Given the description of an element on the screen output the (x, y) to click on. 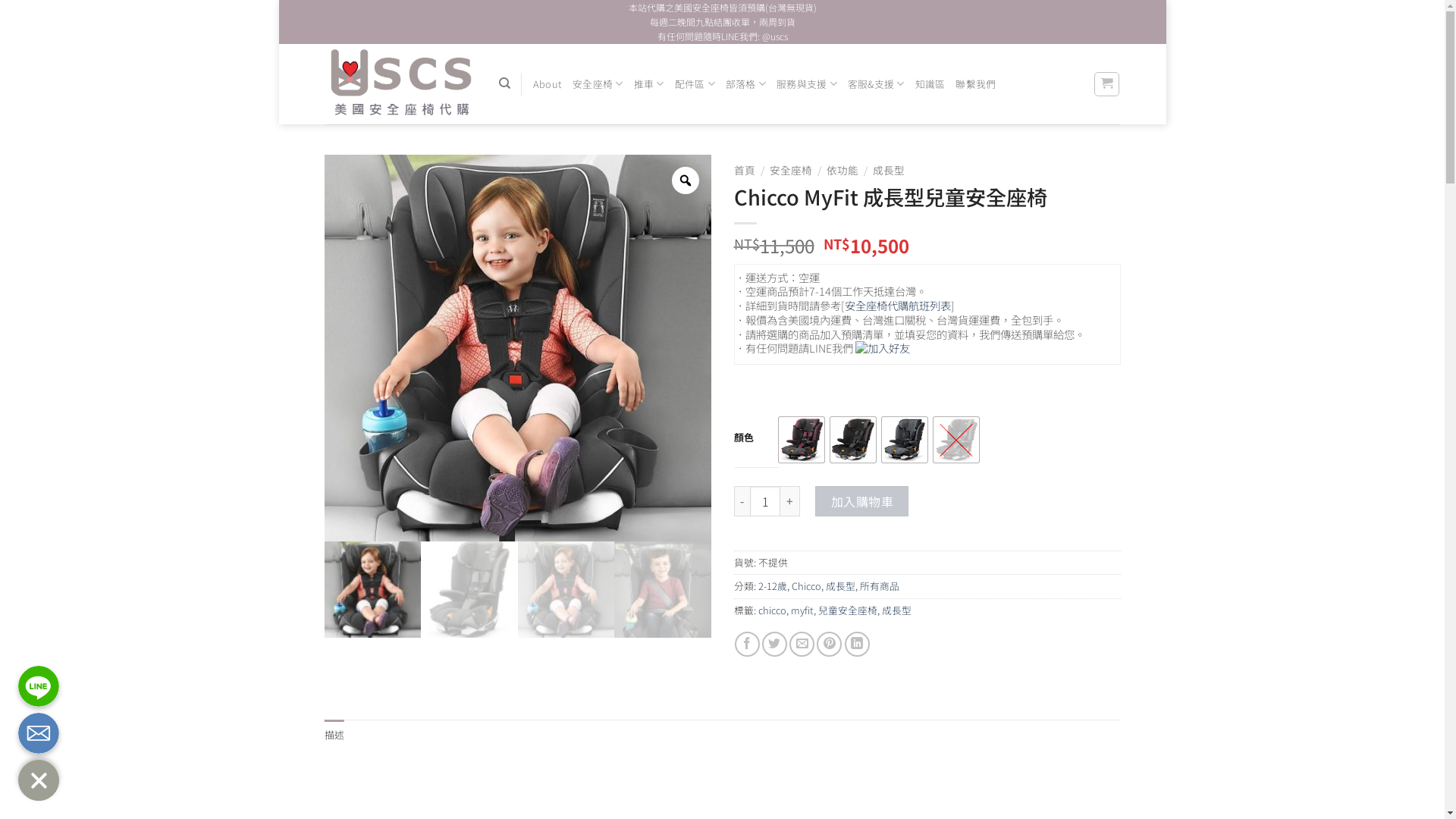
myfit Element type: text (801, 609)
A1cOrlLar3L._SL1500_ Element type: hover (662, 589)
chicco Element type: text (772, 609)
A1Jal5+092L._SL1500_ Element type: hover (565, 589)
chicco-myfit-harness-booster-car-seat-canyon-69 Element type: hover (468, 589)
01 Element type: hover (372, 589)
01 Element type: hover (517, 347)
About Element type: text (547, 83)
Chicco Element type: text (806, 585)
